Given the description of an element on the screen output the (x, y) to click on. 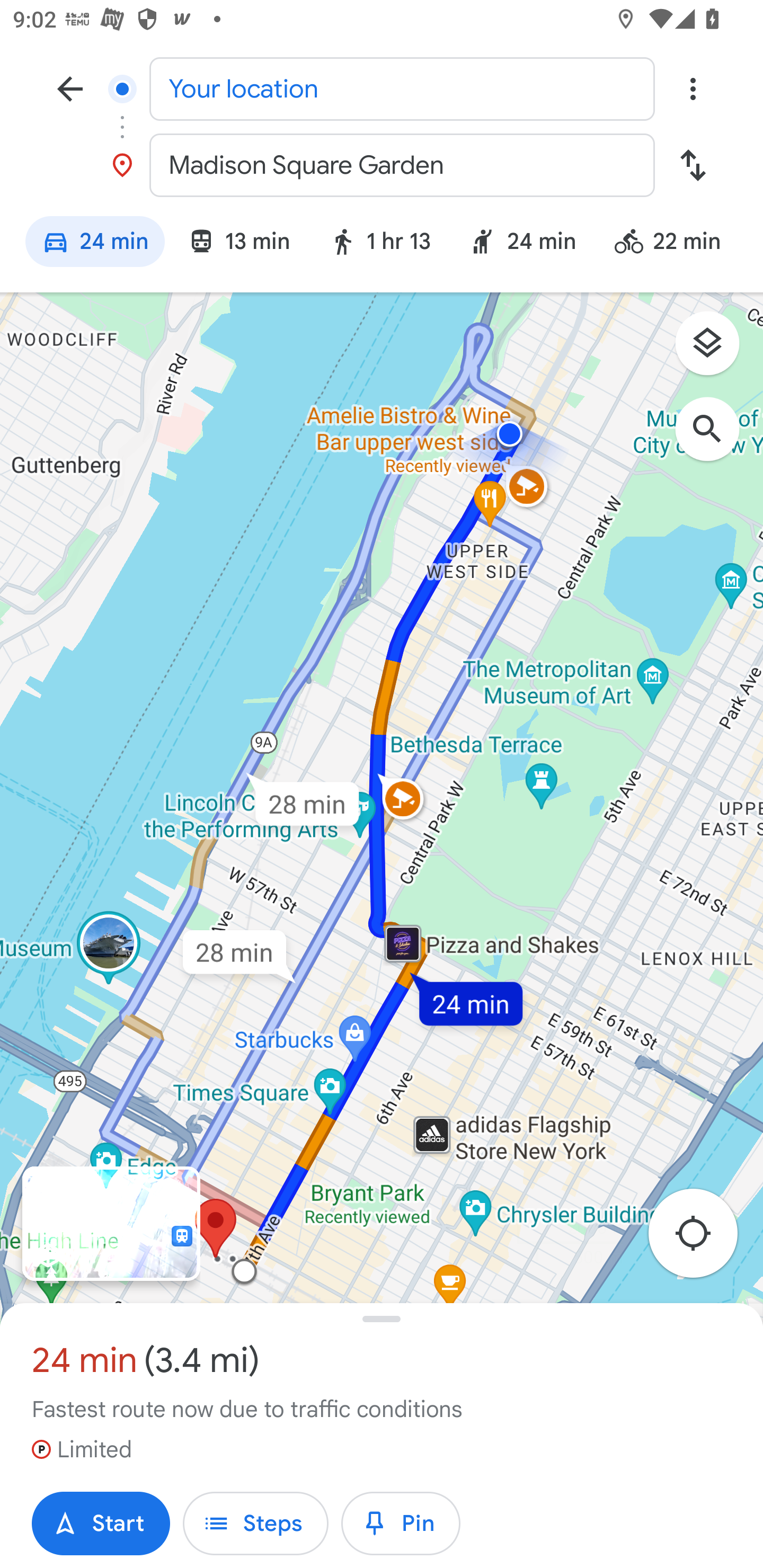
Navigate up (70, 88)
Your location Start location, Your location (381, 88)
Overflow menu (692, 88)
Swap start and destination (692, 165)
Transit mode: 13 min 13 min (238, 244)
Walking mode: 1 hr 13 1 hr 13 (379, 244)
Ride service: 24 min 24 min (522, 244)
Bicycling mode: 22 min 22 min (675, 244)
Layers (716, 349)
Search along route (716, 438)
Open Immersive View for routes (110, 1223)
Re-center map to your location (702, 1238)
Steps Steps Steps (255, 1522)
Pin trip Pin Pin trip (400, 1522)
